Given the description of an element on the screen output the (x, y) to click on. 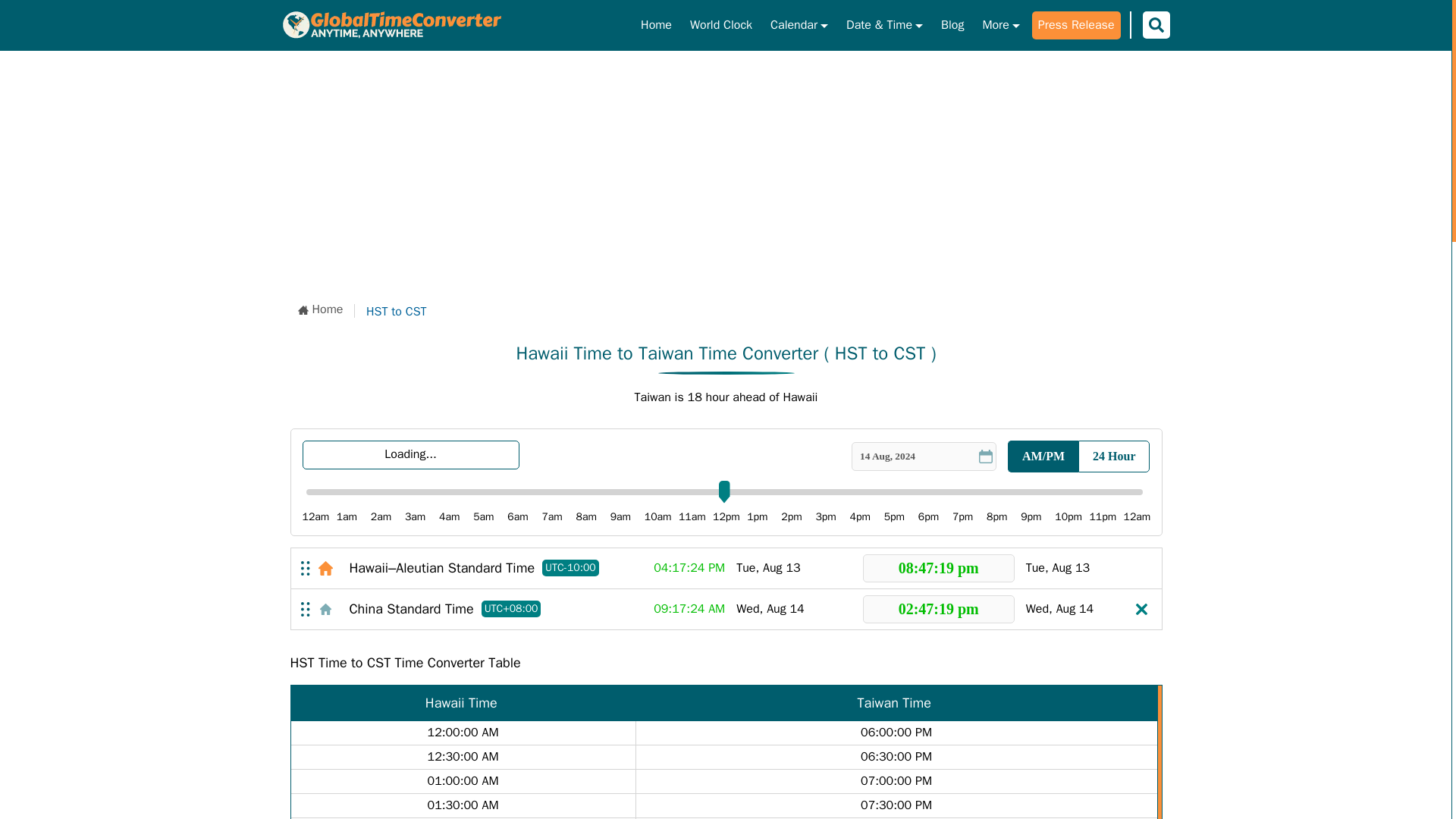
Home (319, 309)
Home (656, 25)
Home (319, 309)
World Clock (721, 25)
14 Aug, 2024 (923, 455)
More (1000, 25)
World Clock (721, 25)
Press Release (1076, 25)
Press Release (1076, 25)
